Given the description of an element on the screen output the (x, y) to click on. 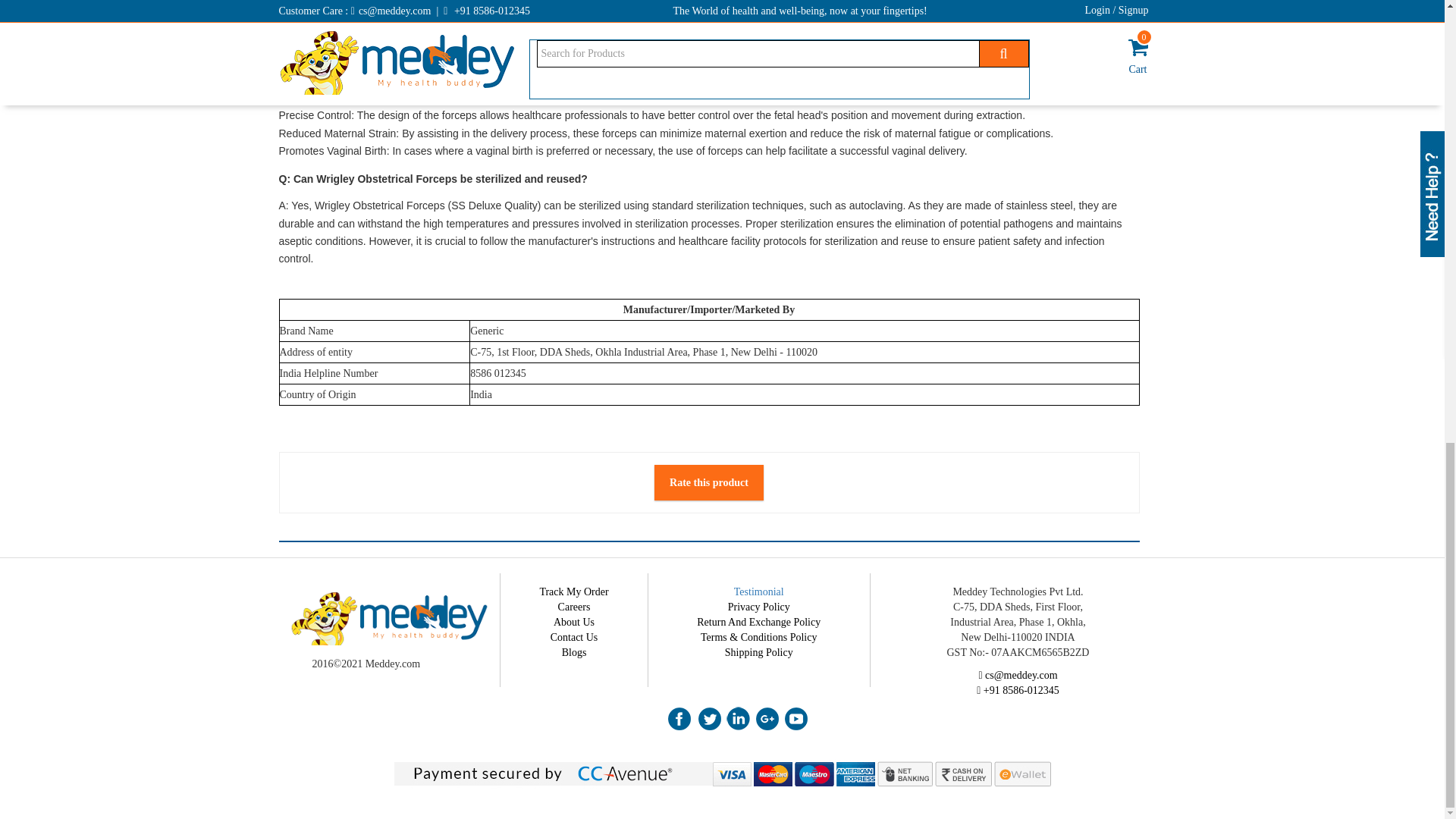
About Us (573, 622)
Testimonial (758, 591)
Careers (574, 606)
Blogs (574, 652)
Contact Us (574, 636)
Track My Order (573, 591)
Rate this product (707, 482)
